Given the description of an element on the screen output the (x, y) to click on. 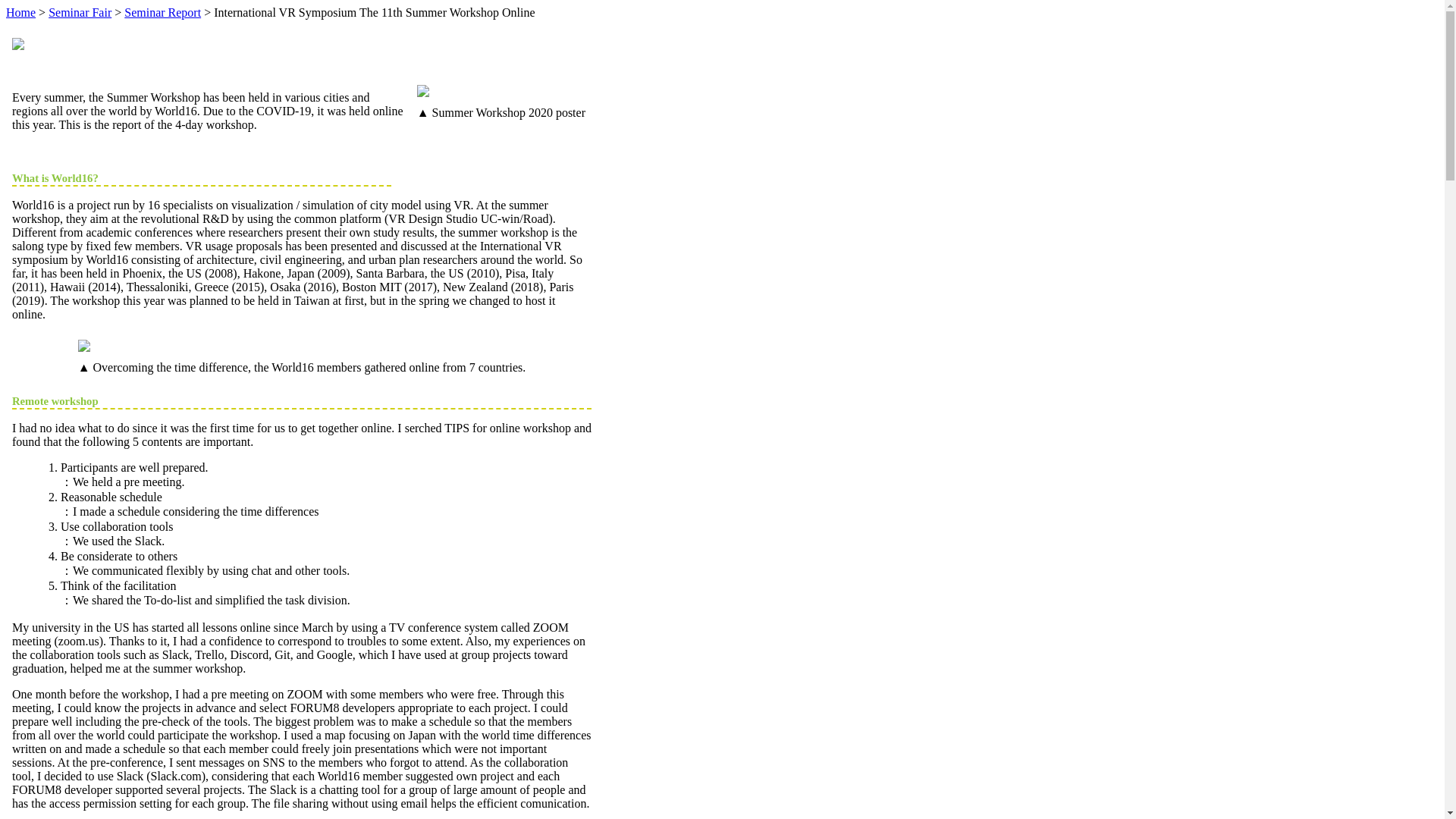
Seminar Report (161, 11)
Seminar Fair (80, 11)
Home (19, 11)
